Given the description of an element on the screen output the (x, y) to click on. 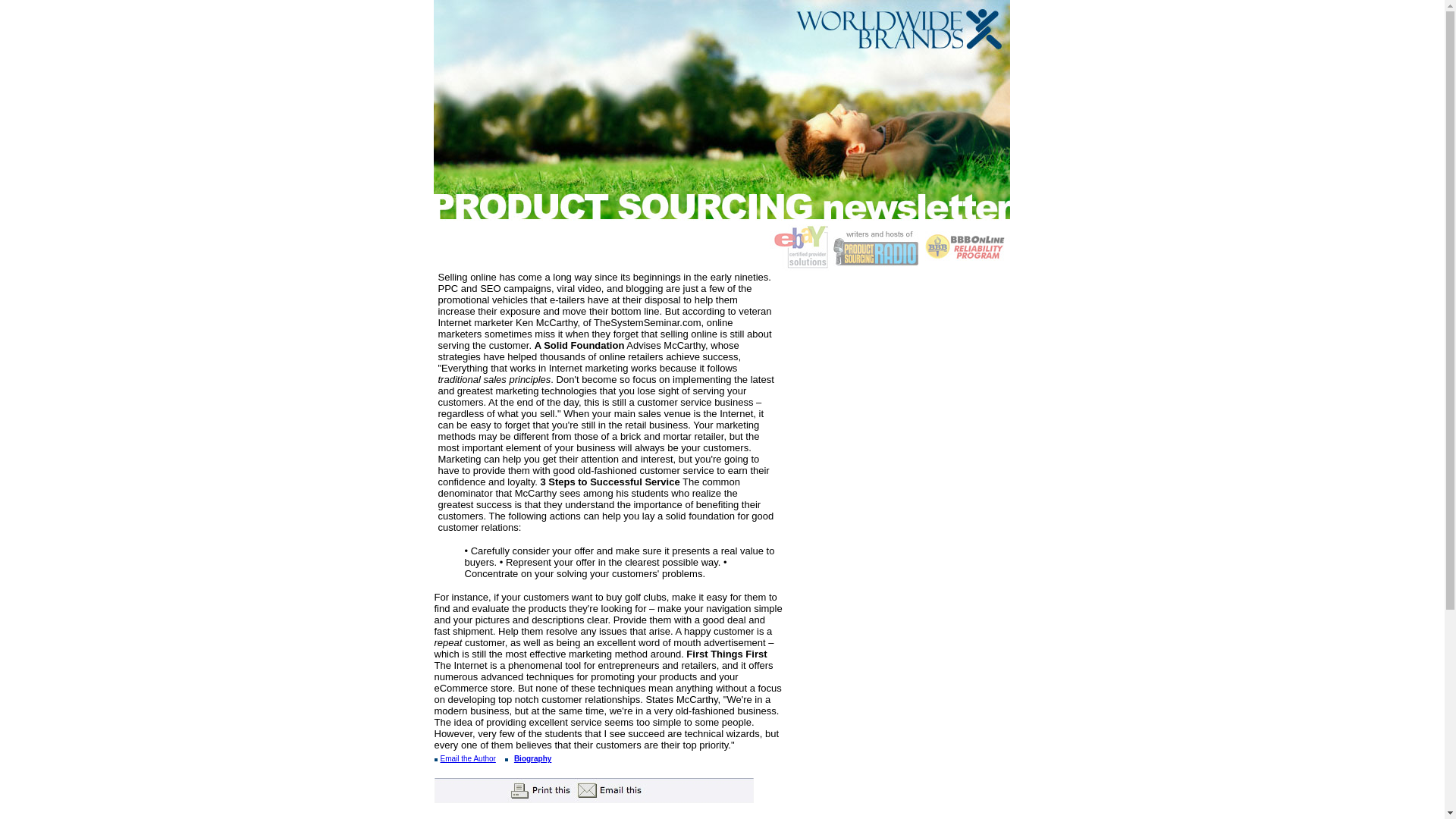
Biography (532, 758)
Email the Author (467, 758)
